Given the description of an element on the screen output the (x, y) to click on. 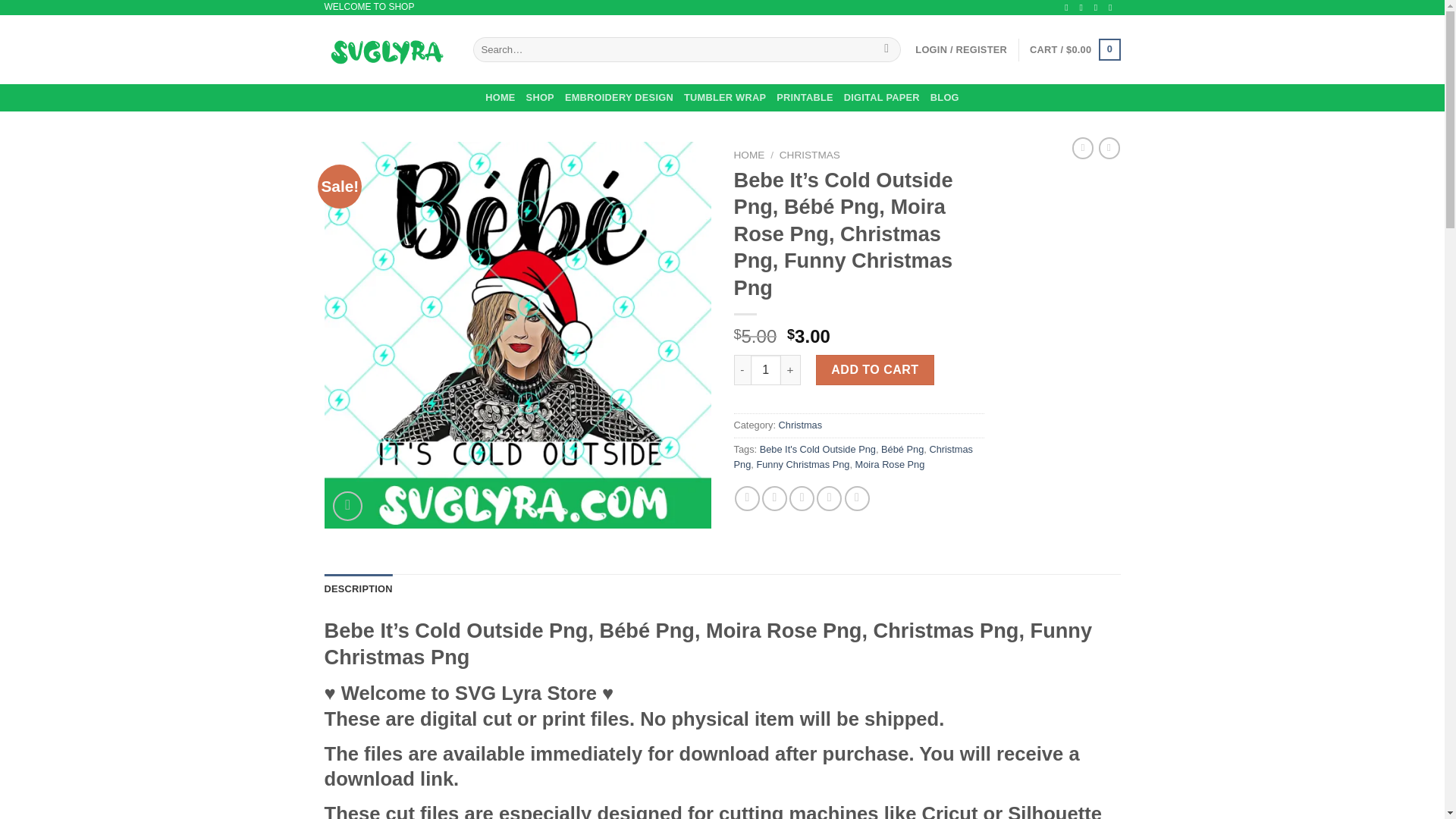
Svg Lyra - SVG EPS DXF PNG Digital Download (386, 49)
Email to a Friend (801, 498)
BLOG (944, 97)
Moira Rose Png (890, 464)
- (742, 369)
Follow on Facebook (1069, 7)
SHOP (539, 97)
Follow on Instagram (1084, 7)
Christmas (800, 424)
DIGITAL PAPER (882, 97)
Share on Twitter (774, 498)
TUMBLER WRAP (724, 97)
ADD TO CART (874, 369)
EMBROIDERY DESIGN (618, 97)
PRINTABLE (804, 97)
